Given the description of an element on the screen output the (x, y) to click on. 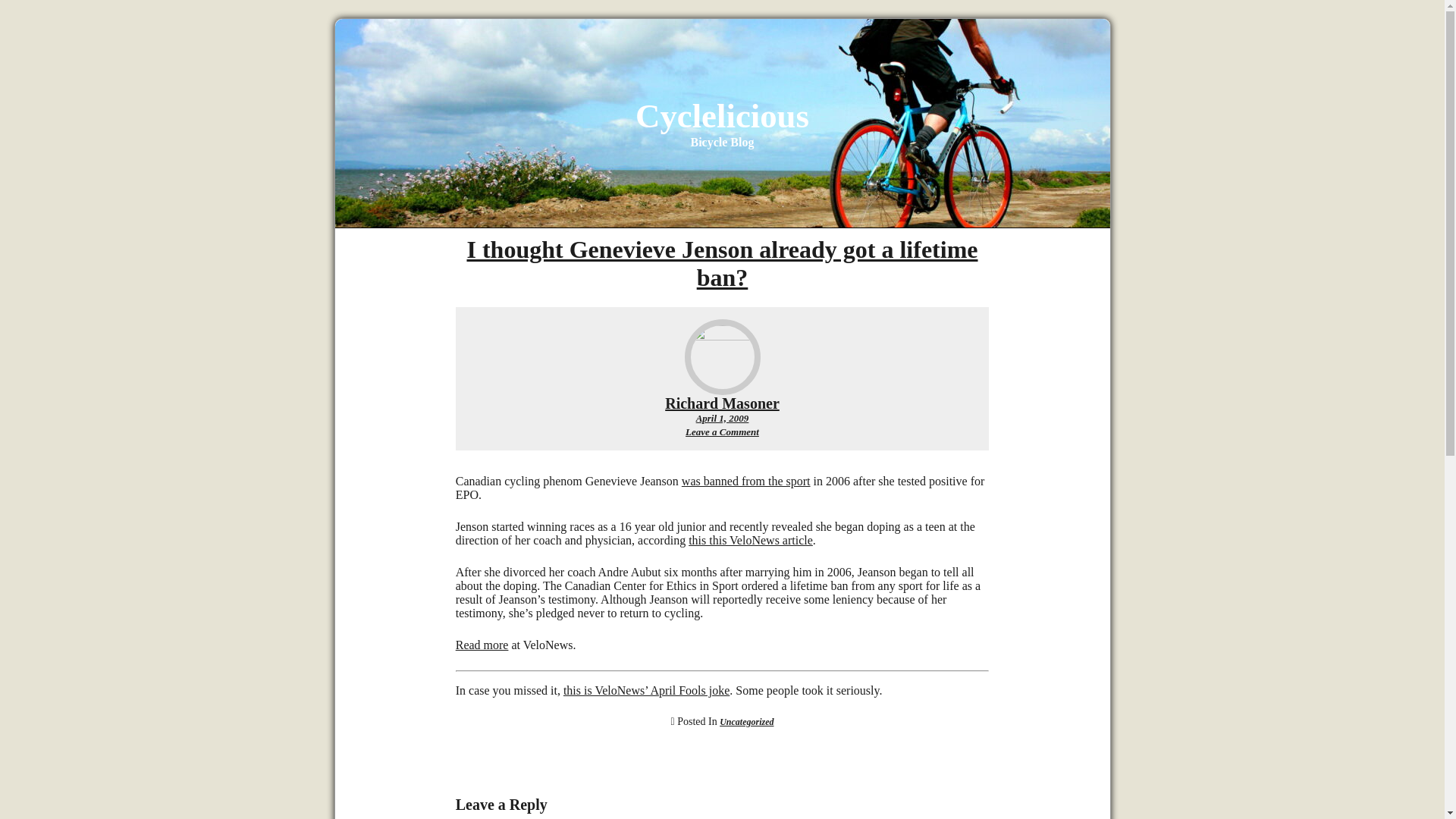
April 1, 2009 (722, 418)
Read more (481, 644)
Leave a Comment (721, 431)
View all posts by Richard Masoner (721, 402)
Uncategorized (746, 721)
this this VeloNews article (750, 540)
1:24 pm (722, 418)
Richard Masoner (721, 402)
was banned from the sport (745, 481)
Cyclelicious (721, 116)
